Given the description of an element on the screen output the (x, y) to click on. 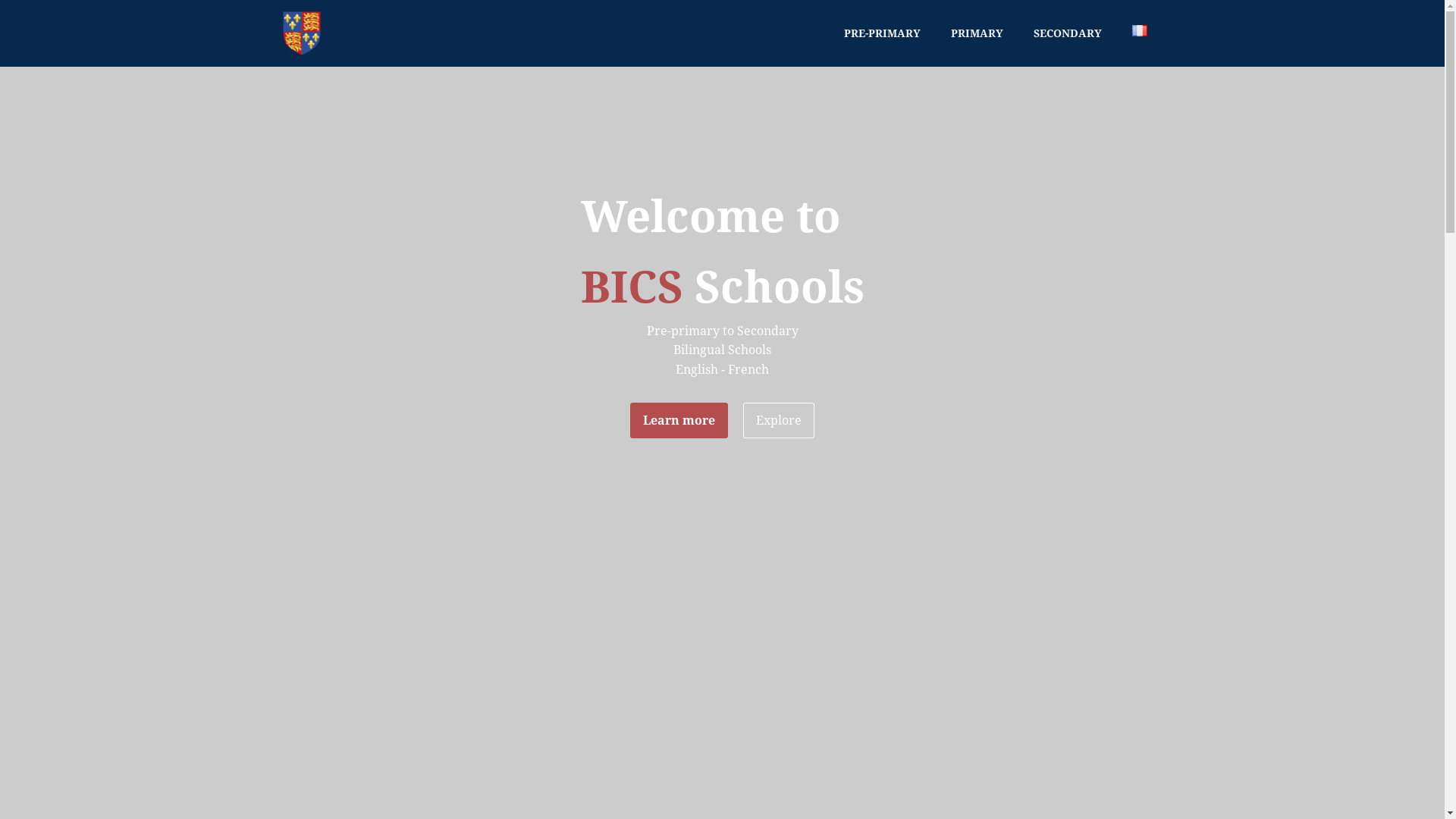
PRIMARY Element type: text (976, 32)
Learn more Element type: text (679, 420)
PRE-PRIMARY Element type: text (881, 32)
Explore Element type: text (778, 420)
SECONDARY Element type: text (1066, 32)
